Given the description of an element on the screen output the (x, y) to click on. 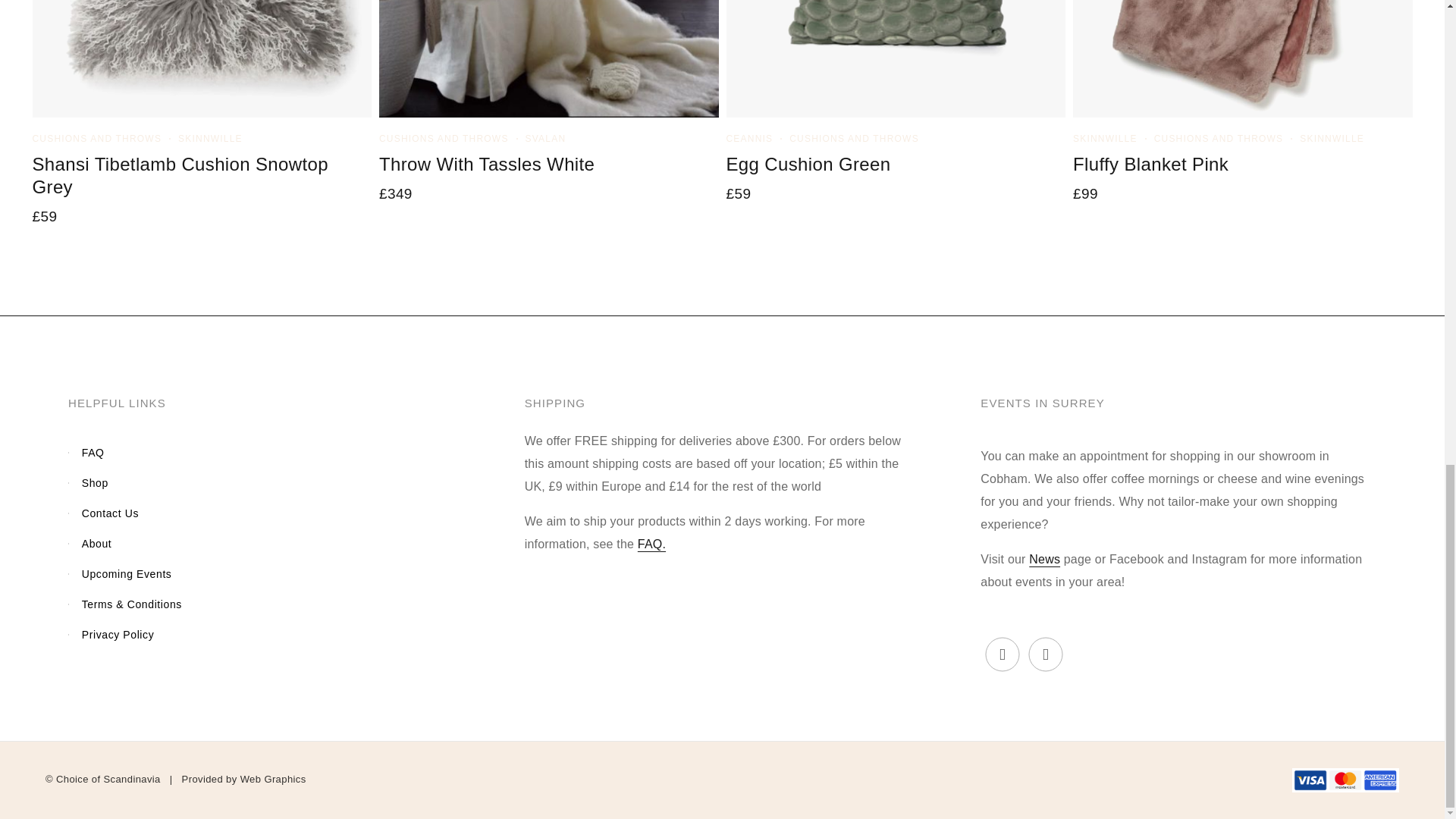
View all posts in Cushions and throws (96, 138)
View all posts in Cushions and throws (853, 138)
View all posts in Ceannis (749, 138)
View all posts in Cushions and throws (443, 138)
View all posts in Skinnwille (1105, 138)
View all posts in Svalan (545, 138)
View all posts in Skinnwille (210, 138)
